Given the description of an element on the screen output the (x, y) to click on. 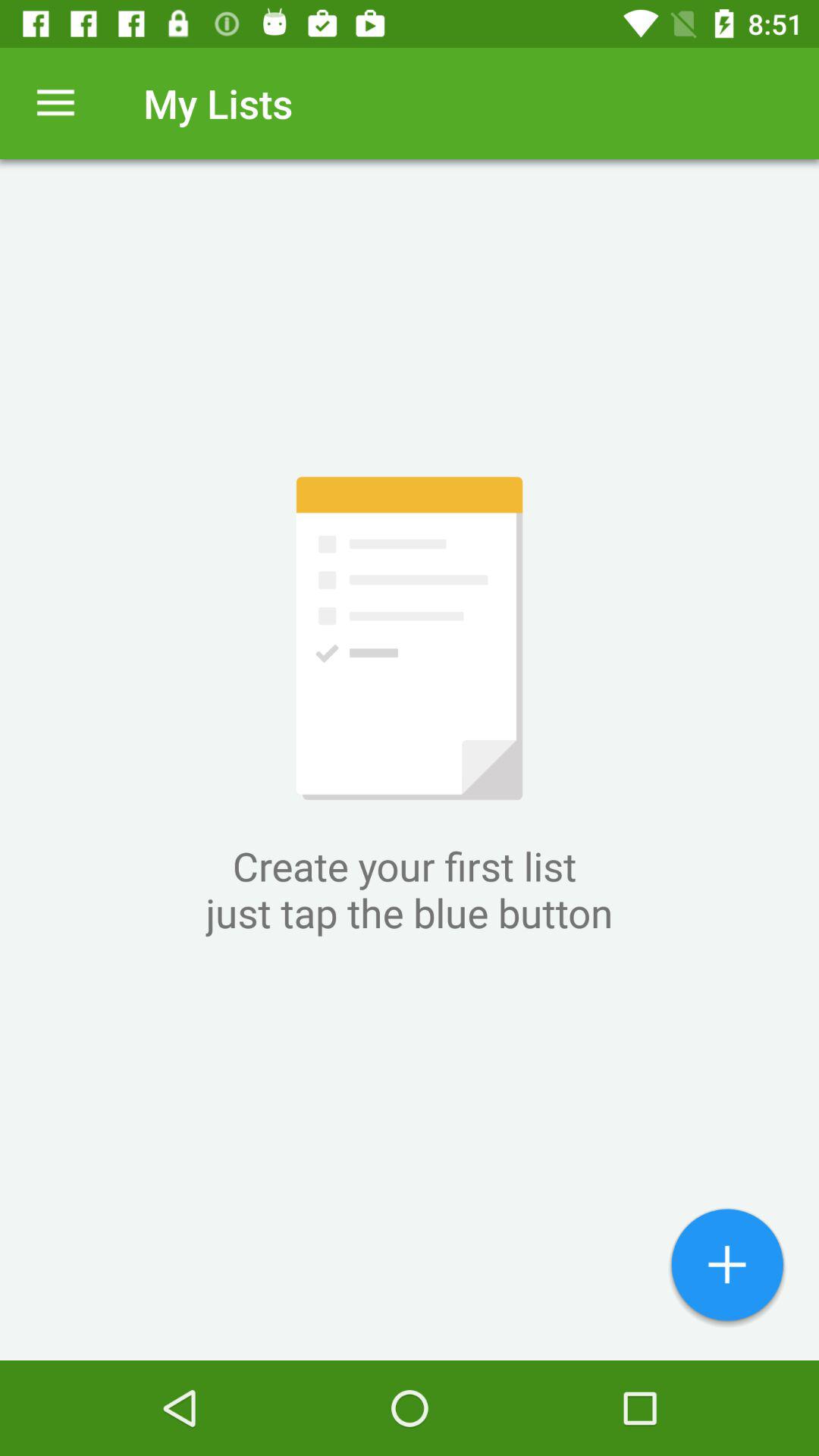
click the icon next to my lists item (55, 103)
